Given the description of an element on the screen output the (x, y) to click on. 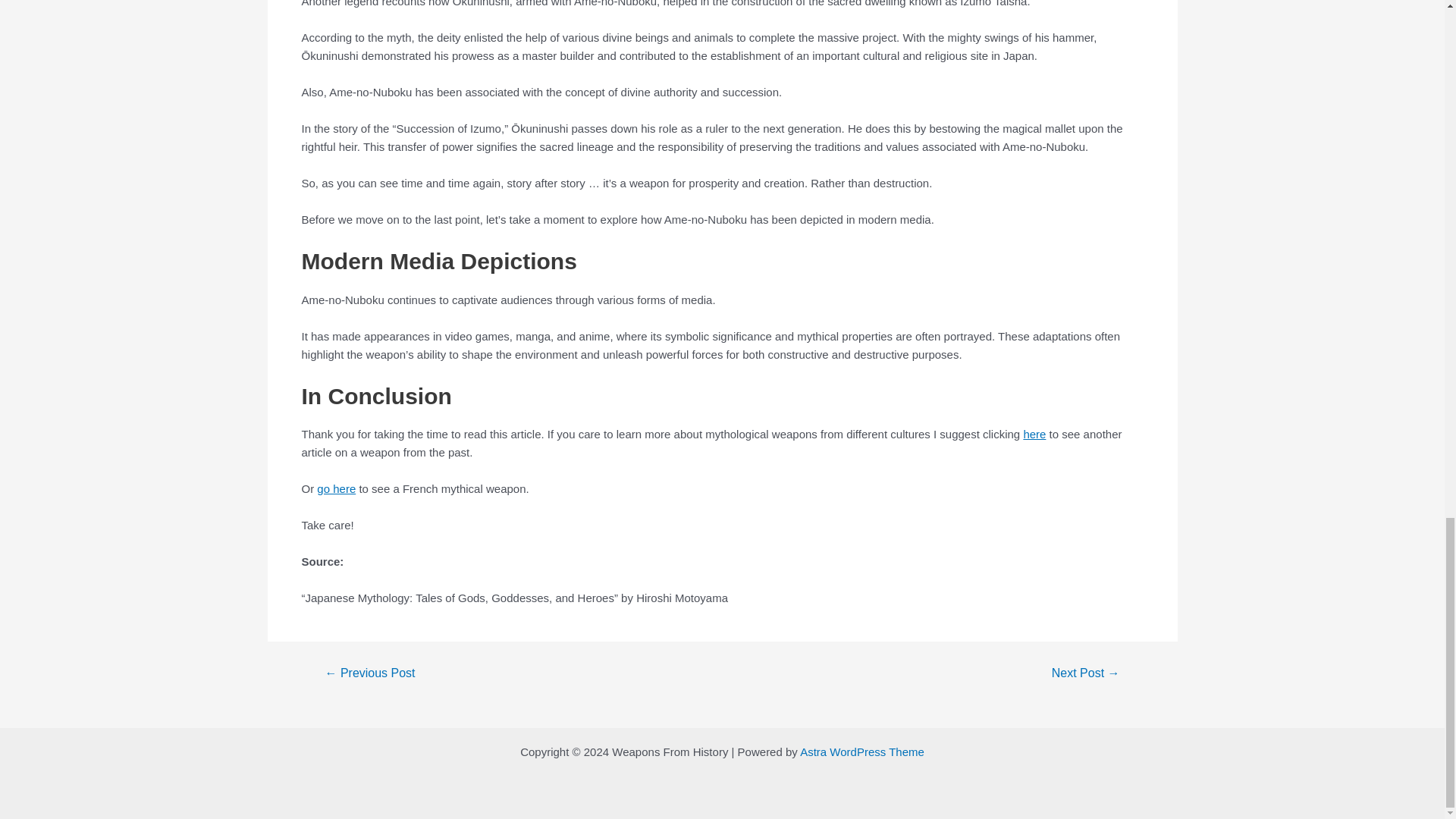
go here (336, 488)
here (1034, 433)
Astra WordPress Theme (861, 751)
What is The Durandal Weapon? (1085, 673)
The Powers Of The Gae Bolg Weapon (368, 673)
